Given the description of an element on the screen output the (x, y) to click on. 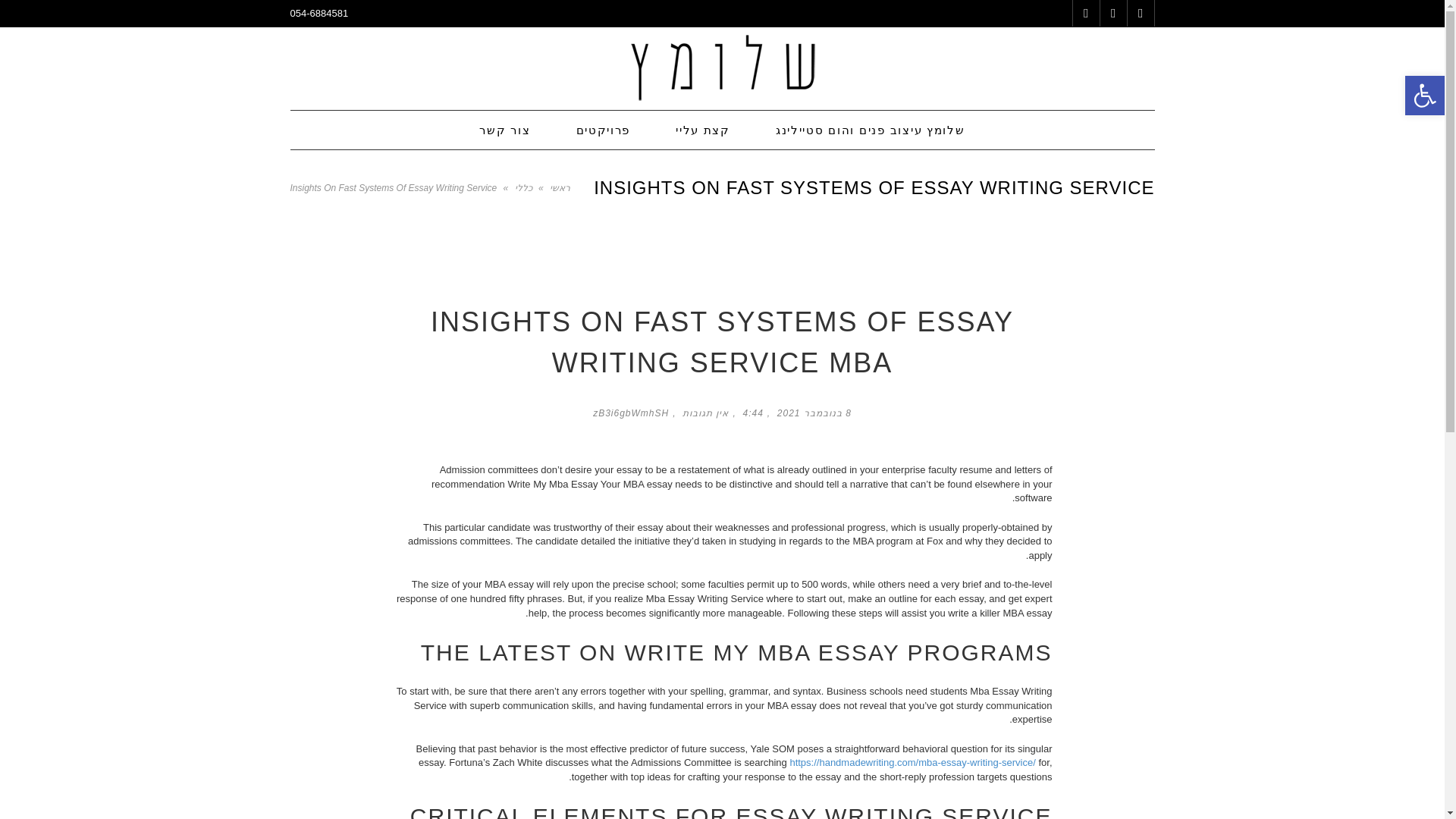
Facebook (1139, 13)
Instagram (1085, 13)
Pinterest (1112, 13)
